Given the description of an element on the screen output the (x, y) to click on. 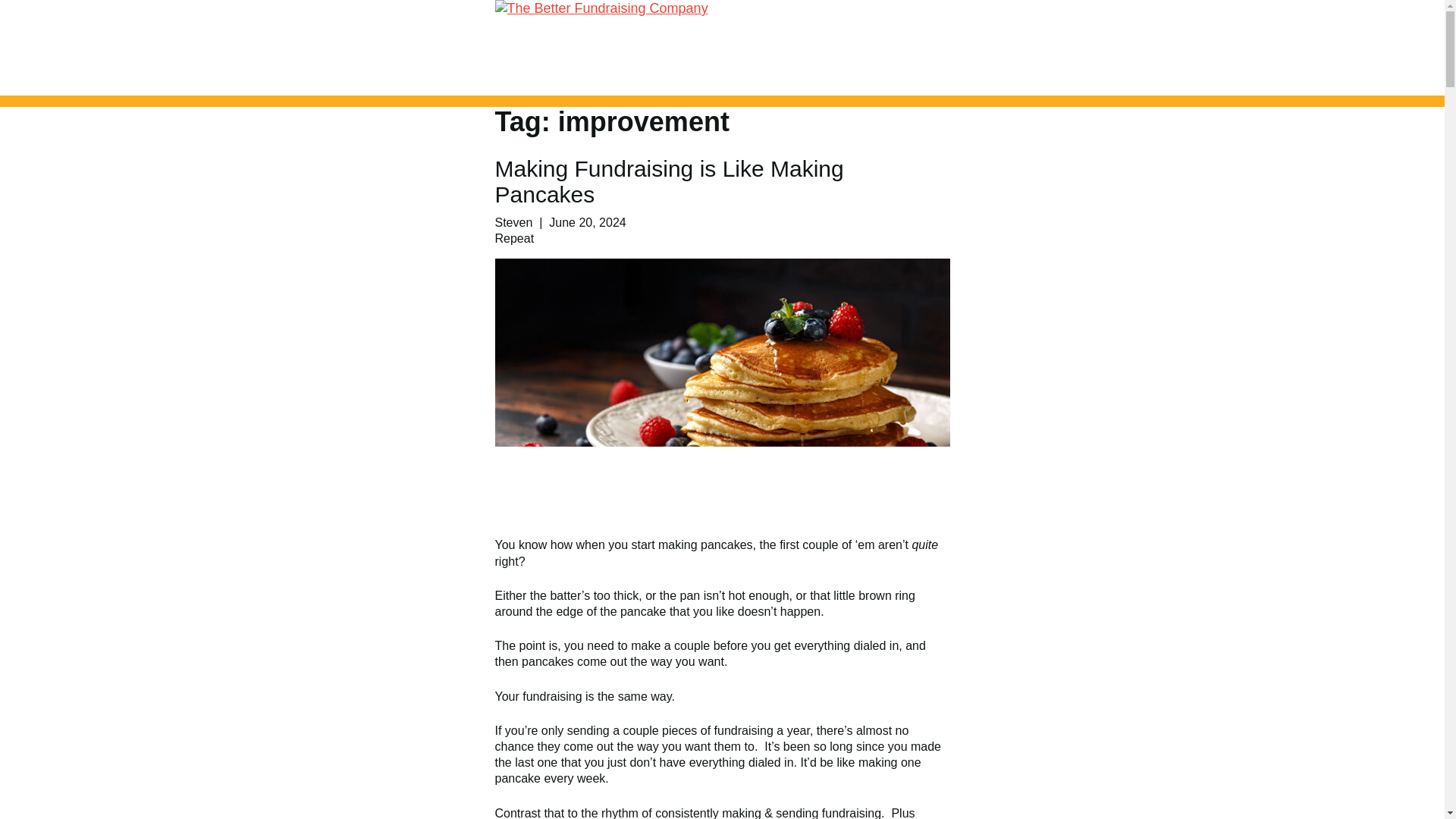
Making Fundraising is Like Making Pancakes (669, 181)
Steven (513, 222)
Repeat (514, 237)
